Given the description of an element on the screen output the (x, y) to click on. 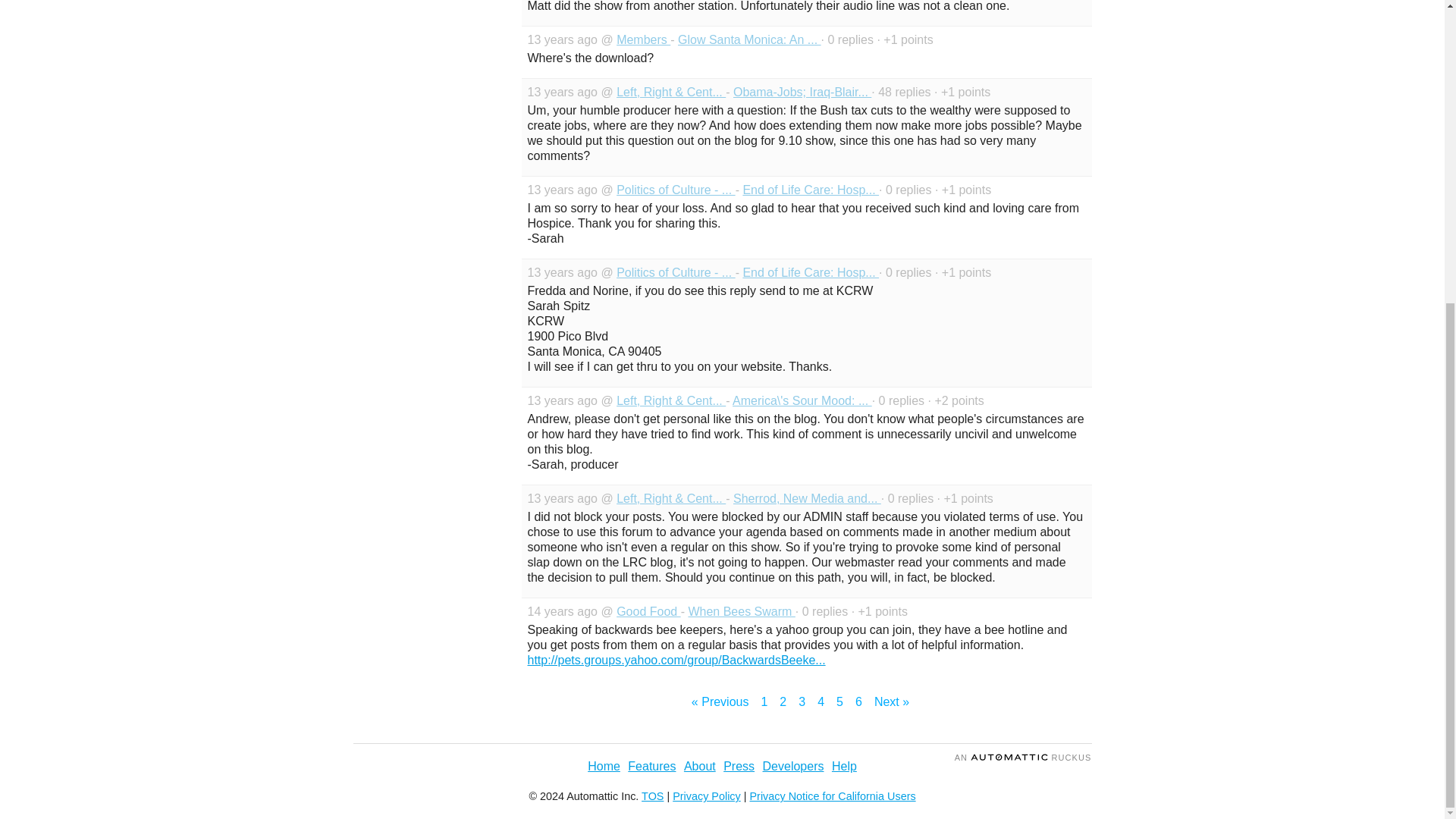
Politics of Culture - ... (675, 189)
Home (604, 766)
AN RUCKUS (1023, 757)
About (700, 766)
4 (820, 702)
End of Life Care: Hosp... (810, 189)
5 (839, 702)
Obama-Jobs; Iraq-Blair... (801, 91)
2 (782, 702)
Features (651, 766)
6 (858, 702)
Politics of Culture - ... (675, 272)
End of Life Care: Hosp... (810, 272)
1 (763, 702)
3 (801, 702)
